Given the description of an element on the screen output the (x, y) to click on. 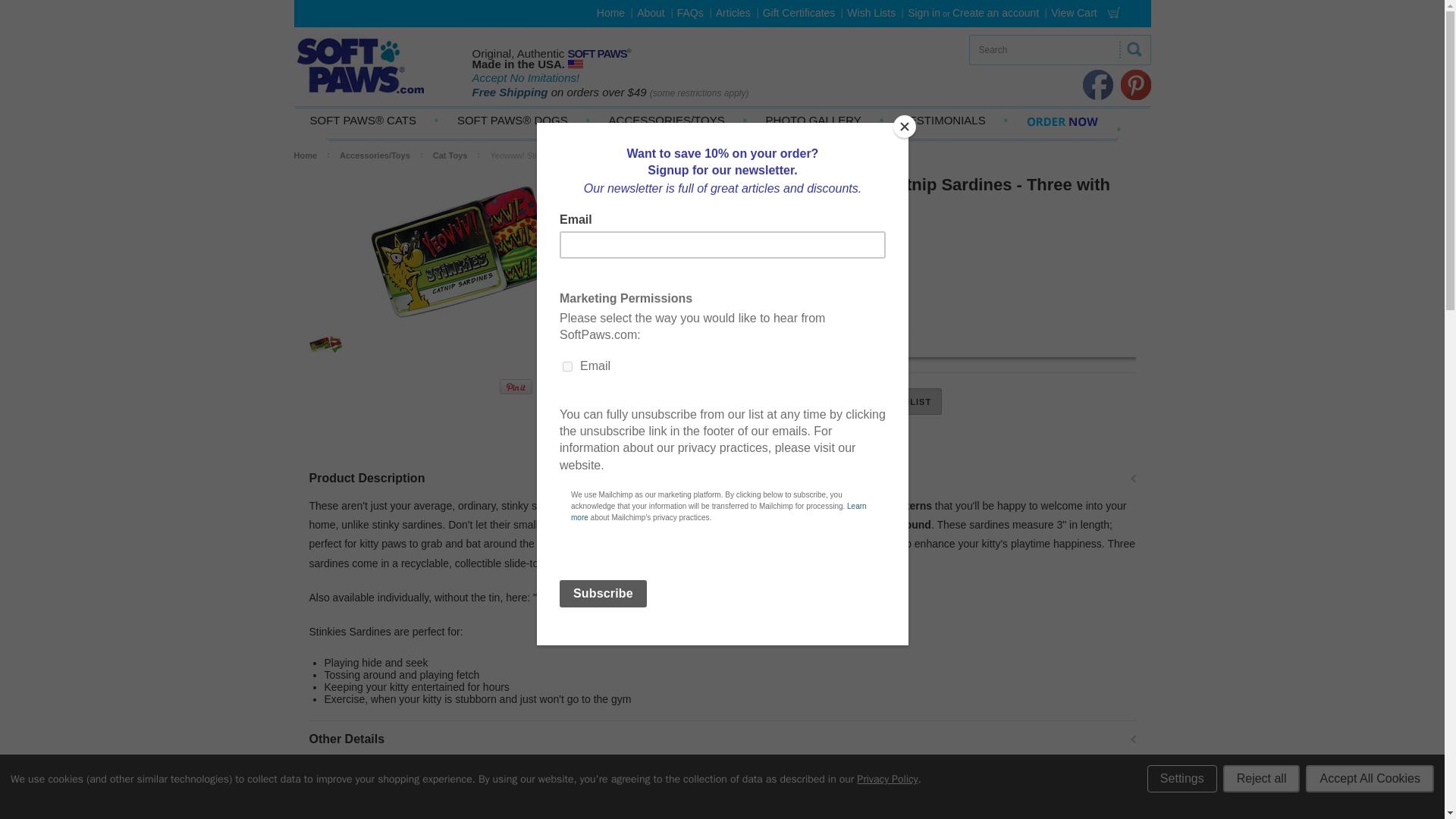
Add to Wishlist (888, 401)
Made in the USA (575, 63)
Image 1 (515, 248)
Search (1133, 49)
Add to Wishlist (888, 401)
View Cart (1088, 12)
Add To Cart (780, 401)
View Cart (1113, 12)
Search (1041, 49)
Image 1 (325, 337)
